Given the description of an element on the screen output the (x, y) to click on. 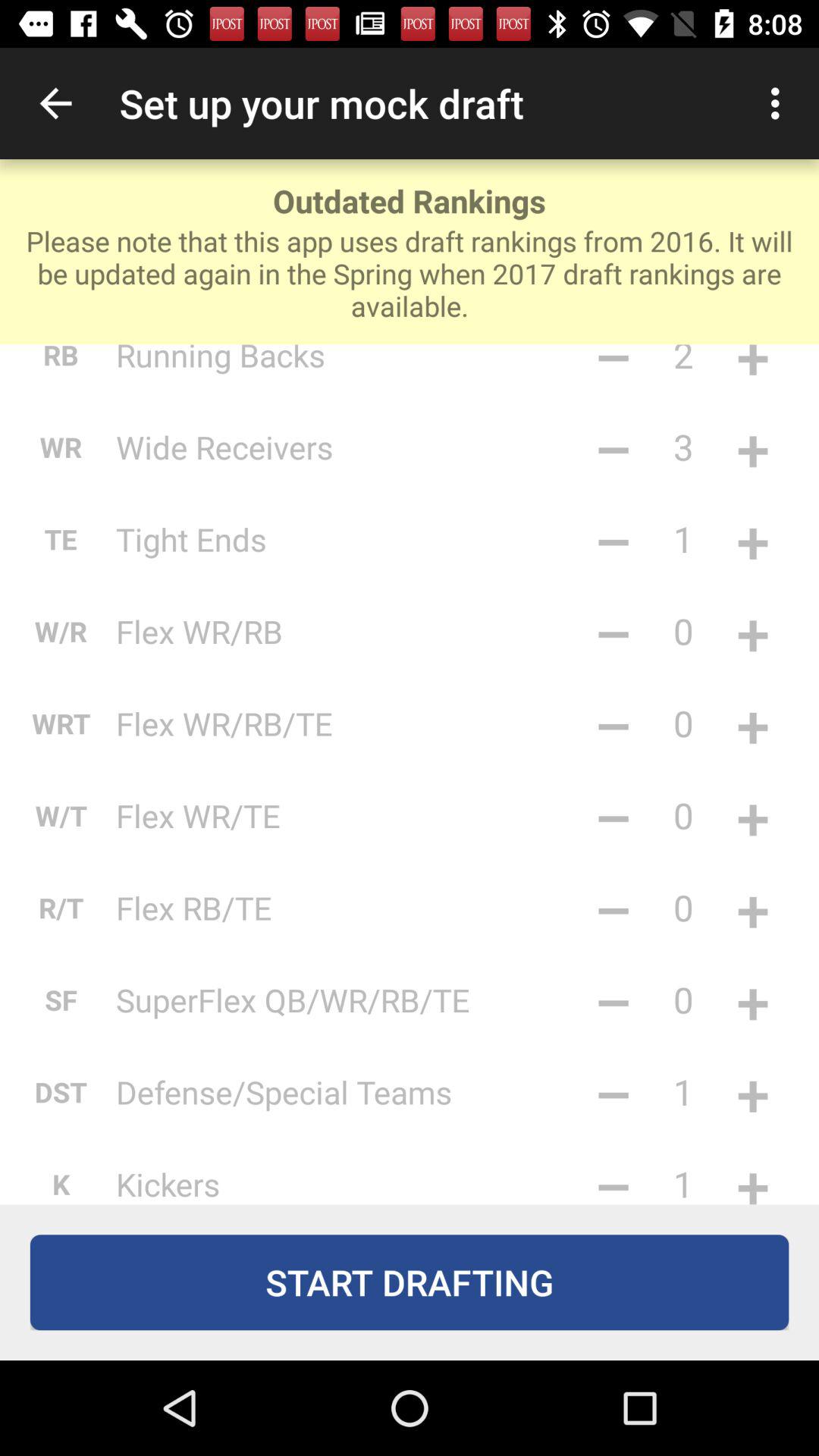
tap the icon below the + (752, 907)
